Given the description of an element on the screen output the (x, y) to click on. 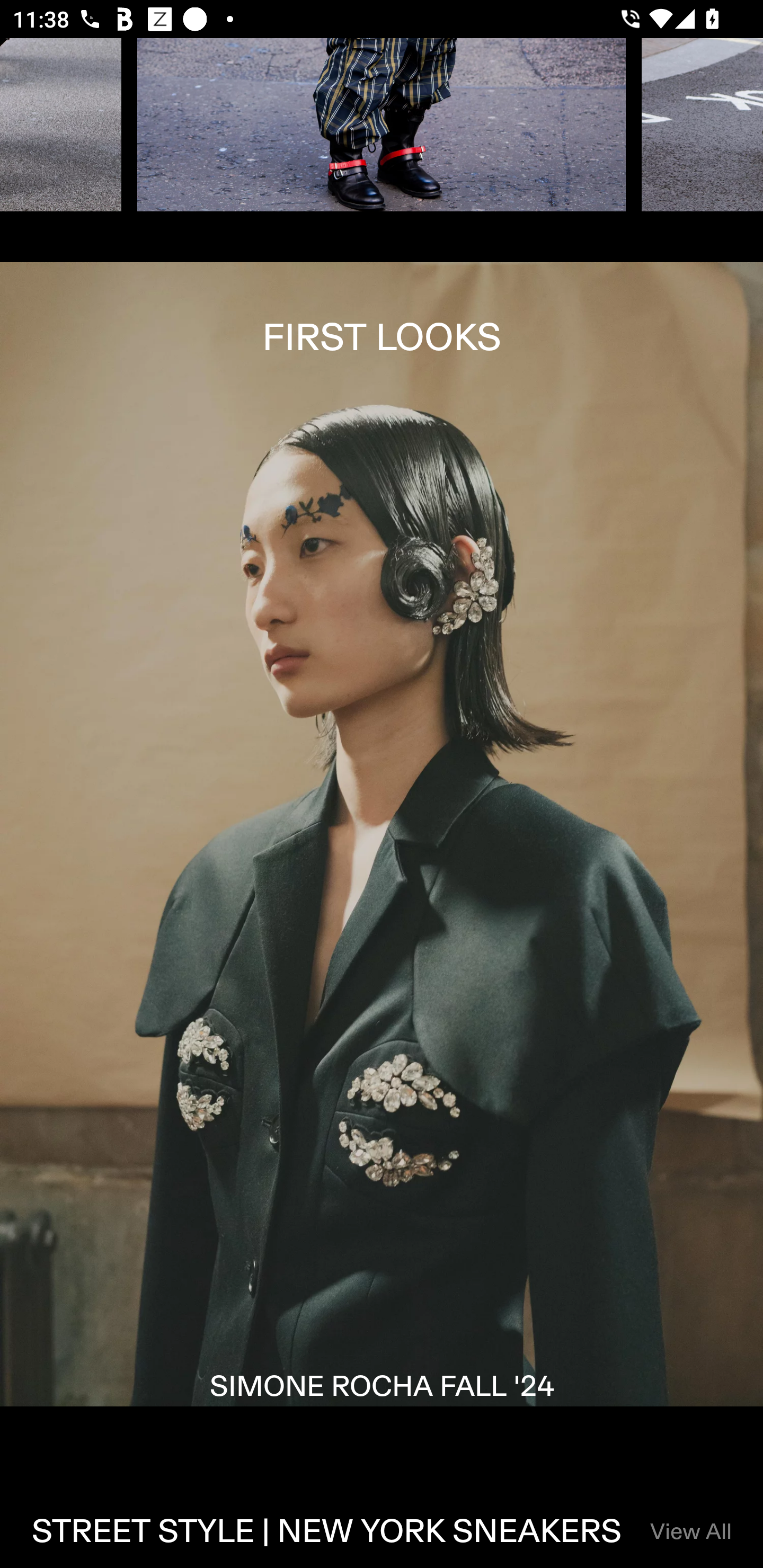
View All (690, 1532)
